Given the description of an element on the screen output the (x, y) to click on. 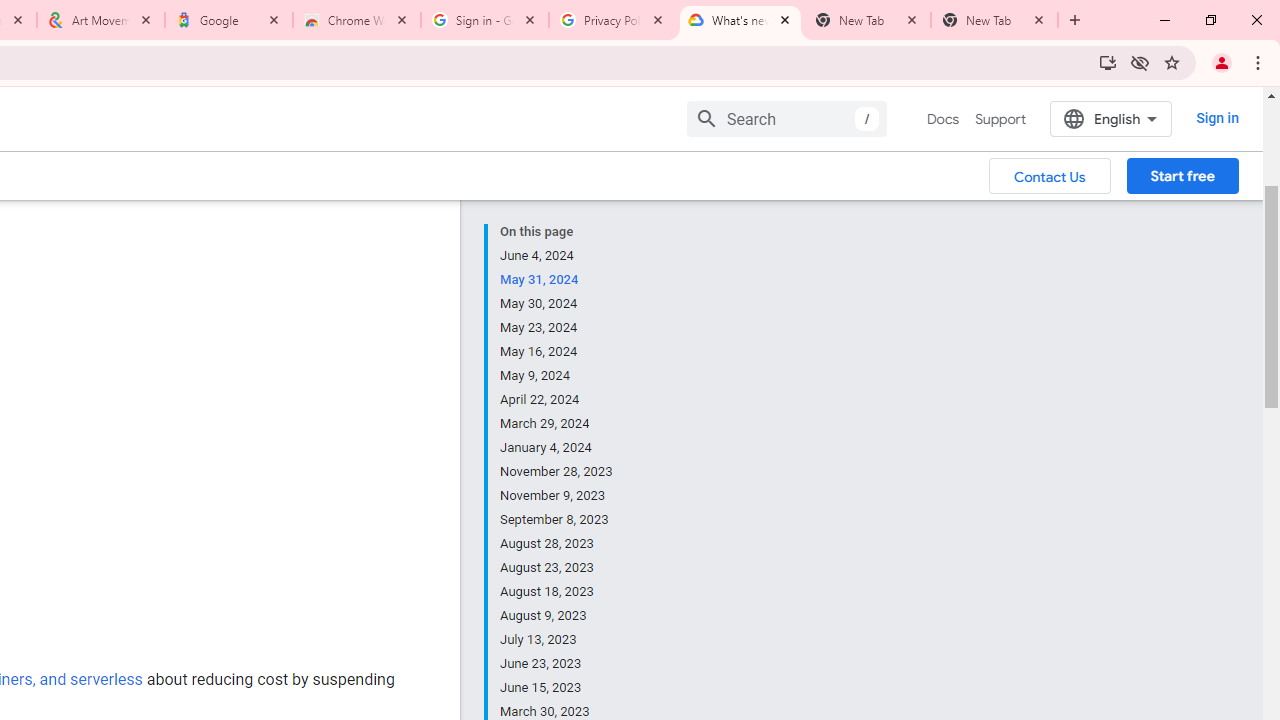
April 22, 2024 (557, 399)
November 28, 2023 (557, 471)
Sign in - Google Accounts (485, 20)
August 23, 2023 (557, 567)
August 18, 2023 (557, 592)
May 31, 2024 (557, 279)
September 8, 2023 (557, 520)
